Given the description of an element on the screen output the (x, y) to click on. 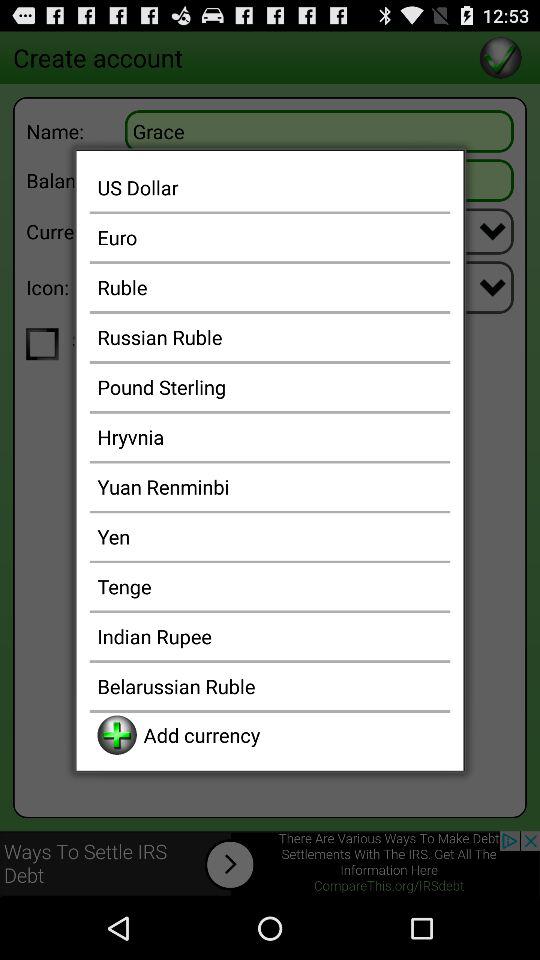
tap icon below the yuan renminbi app (269, 536)
